Given the description of an element on the screen output the (x, y) to click on. 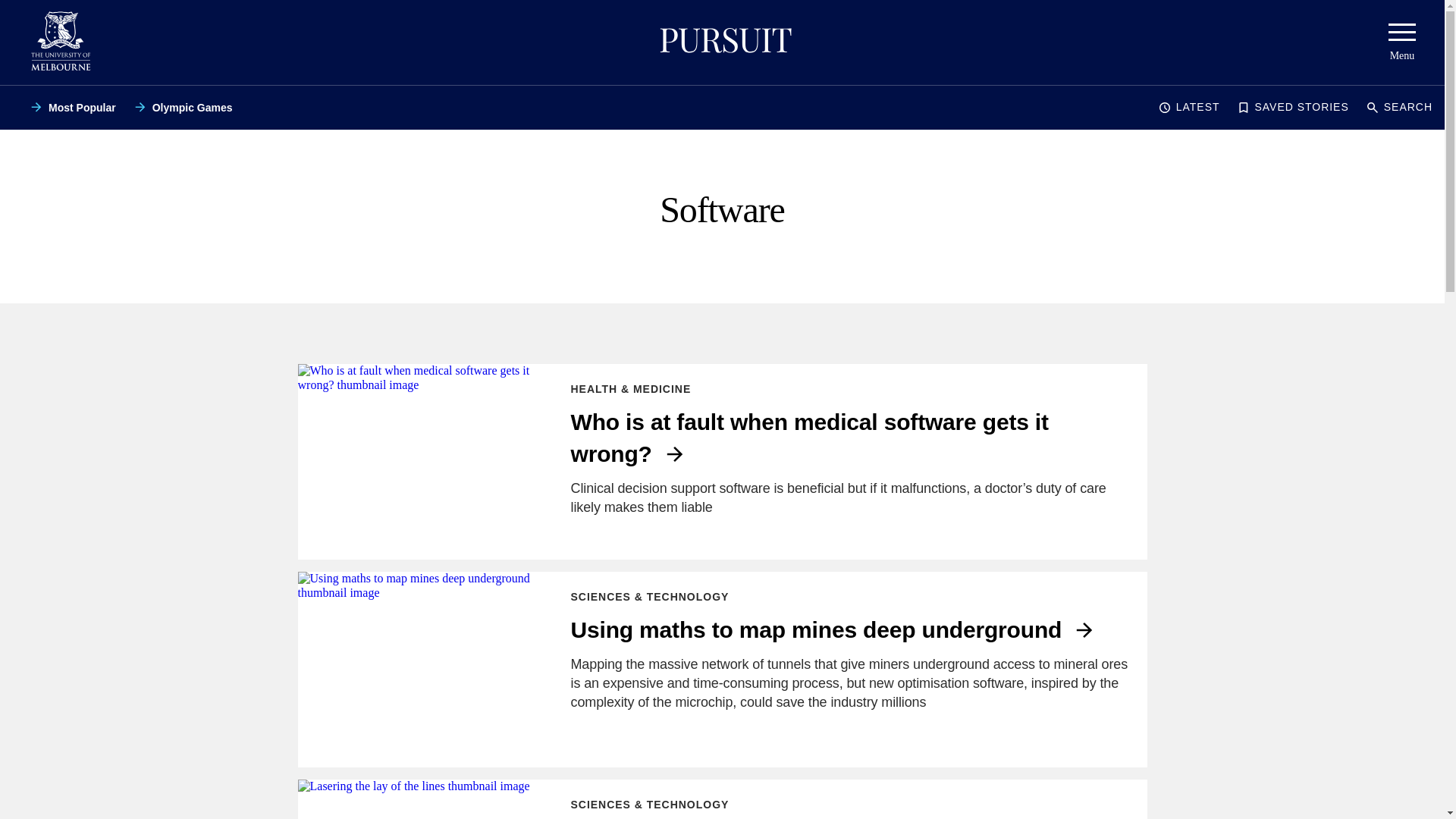
SAVED STORIES (1292, 107)
SEARCH (1399, 107)
LATEST (1189, 107)
Most Popular (73, 107)
Olympic Games (182, 107)
